Given the description of an element on the screen output the (x, y) to click on. 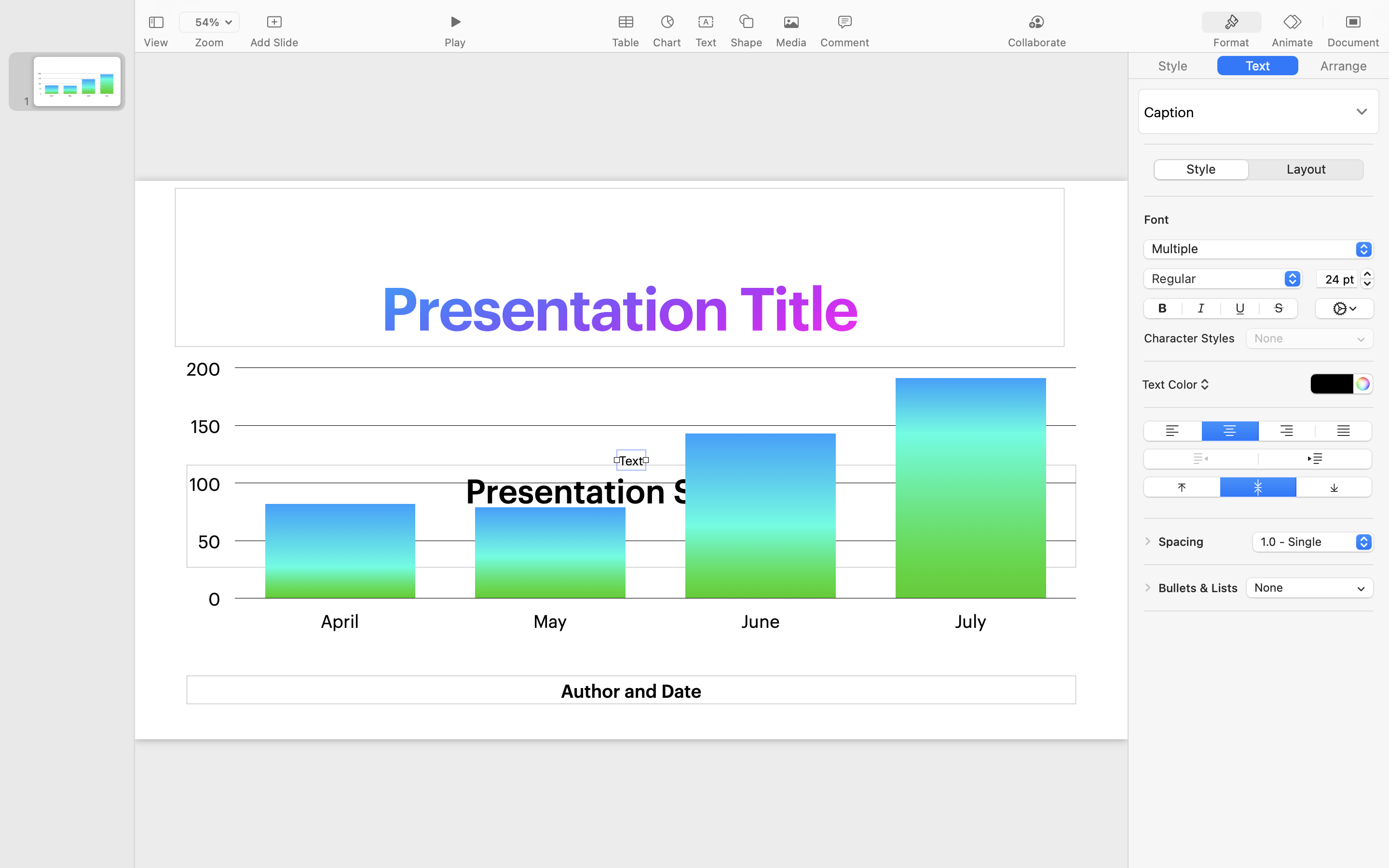
<AXUIElement 0x2ac5a2480> {pid=1697} Element type: AXRadioGroup (1258, 169)
24 pt Element type: AXTextField (1336, 278)
Document Element type: AXStaticText (1352, 42)
Untitled Element type: AXStaticText (735, 12)
24.0 Element type: AXIncrementor (1367, 278)
